Given the description of an element on the screen output the (x, y) to click on. 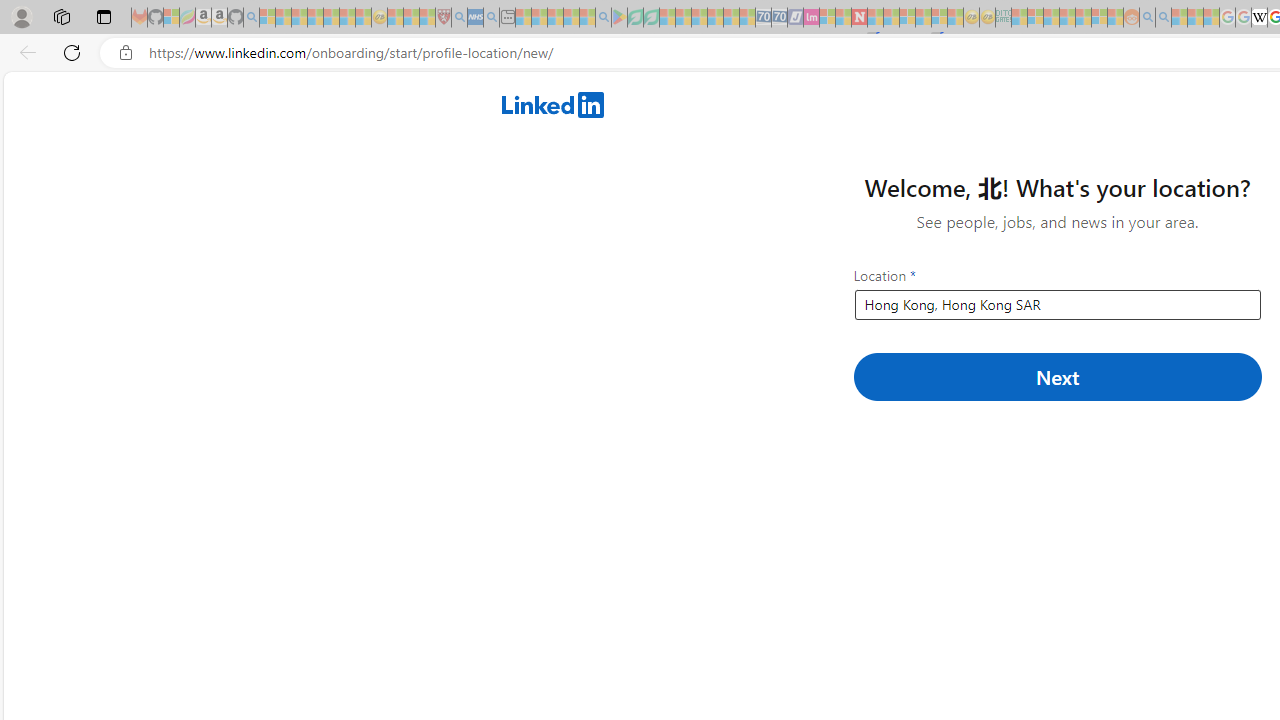
Latest Politics News & Archive | Newsweek.com - Sleeping (859, 17)
14 Common Myths Debunked By Scientific Facts - Sleeping (891, 17)
Recipes - MSN - Sleeping (395, 17)
Local - MSN - Sleeping (427, 17)
